Given the description of an element on the screen output the (x, y) to click on. 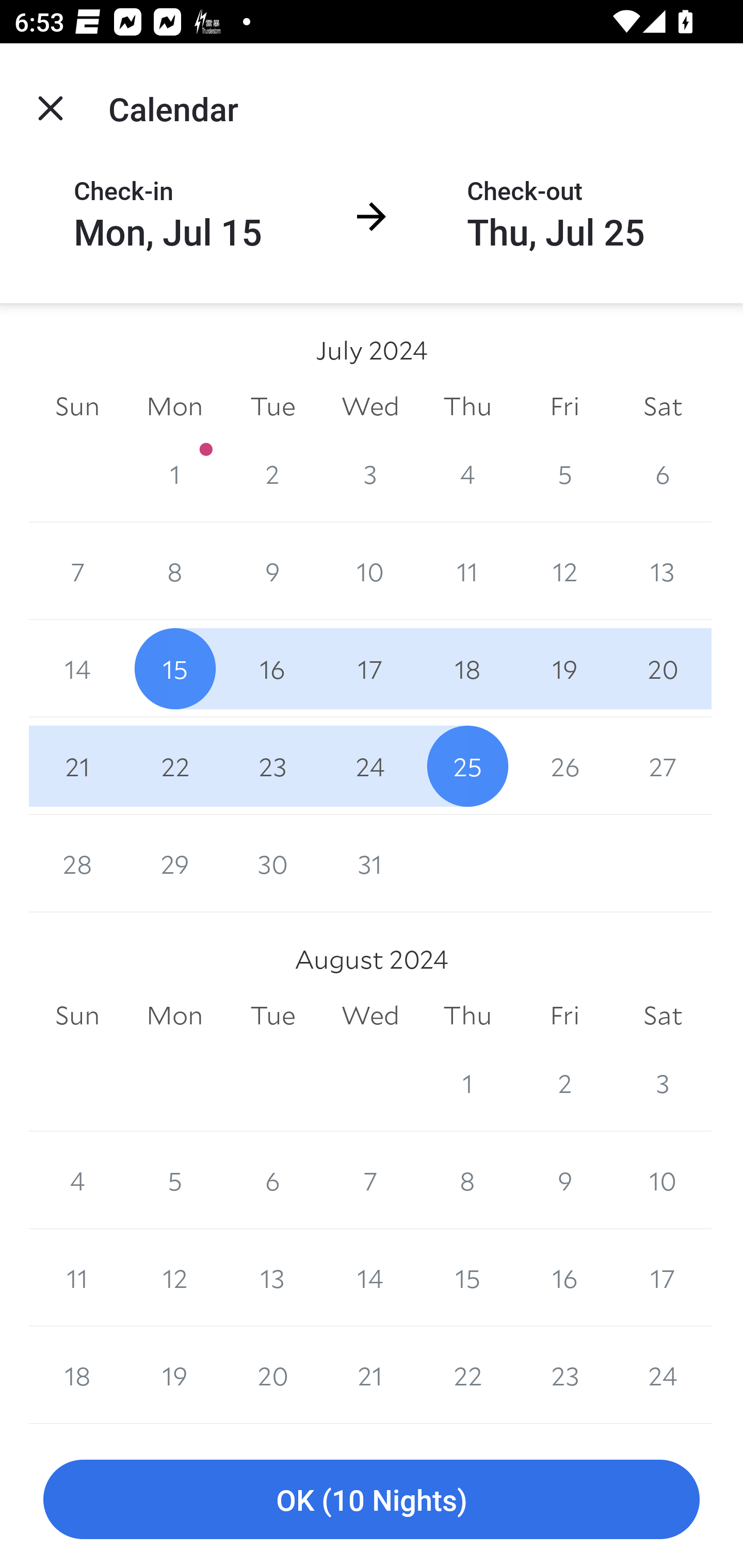
Sun (77, 405)
Mon (174, 405)
Tue (272, 405)
Wed (370, 405)
Thu (467, 405)
Fri (564, 405)
Sat (662, 405)
1 1 July 2024 (174, 473)
2 2 July 2024 (272, 473)
3 3 July 2024 (370, 473)
4 4 July 2024 (467, 473)
5 5 July 2024 (564, 473)
6 6 July 2024 (662, 473)
7 7 July 2024 (77, 570)
8 8 July 2024 (174, 570)
9 9 July 2024 (272, 570)
10 10 July 2024 (370, 570)
11 11 July 2024 (467, 570)
12 12 July 2024 (564, 570)
13 13 July 2024 (662, 570)
14 14 July 2024 (77, 668)
15 15 July 2024 (174, 668)
16 16 July 2024 (272, 668)
17 17 July 2024 (370, 668)
18 18 July 2024 (467, 668)
19 19 July 2024 (564, 668)
20 20 July 2024 (662, 668)
21 21 July 2024 (77, 766)
22 22 July 2024 (174, 766)
23 23 July 2024 (272, 766)
24 24 July 2024 (370, 766)
25 25 July 2024 (467, 766)
26 26 July 2024 (564, 766)
27 27 July 2024 (662, 766)
28 28 July 2024 (77, 863)
29 29 July 2024 (174, 863)
30 30 July 2024 (272, 863)
31 31 July 2024 (370, 863)
Sun (77, 1015)
Mon (174, 1015)
Tue (272, 1015)
Wed (370, 1015)
Thu (467, 1015)
Fri (564, 1015)
Sat (662, 1015)
1 1 August 2024 (467, 1083)
2 2 August 2024 (564, 1083)
3 3 August 2024 (662, 1083)
4 4 August 2024 (77, 1180)
